Given the description of an element on the screen output the (x, y) to click on. 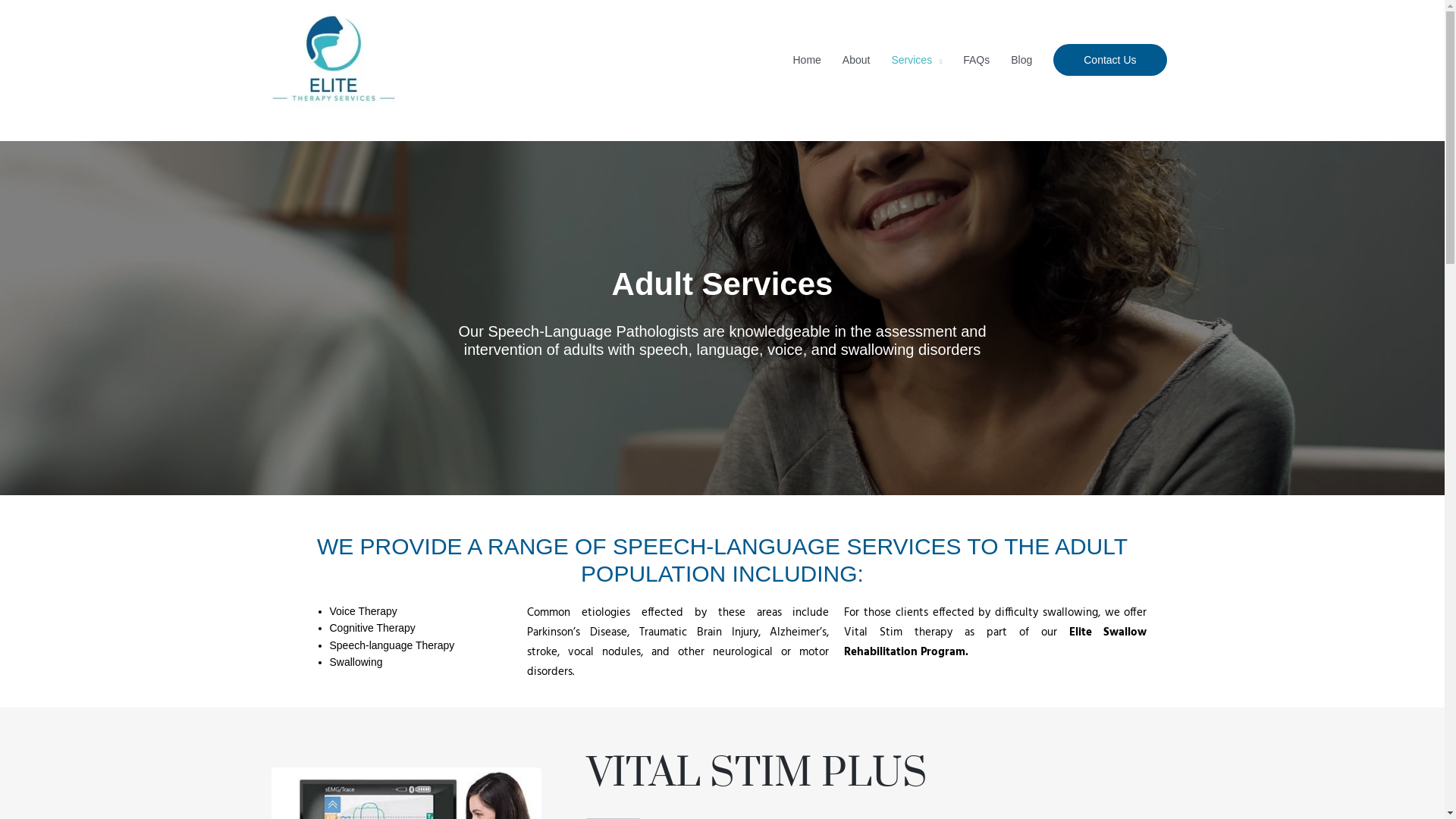
Home Element type: text (806, 59)
Contact Us Element type: text (1109, 59)
Services Element type: text (916, 59)
FAQs Element type: text (976, 59)
Blog Element type: text (1021, 59)
About Element type: text (856, 59)
